Given the description of an element on the screen output the (x, y) to click on. 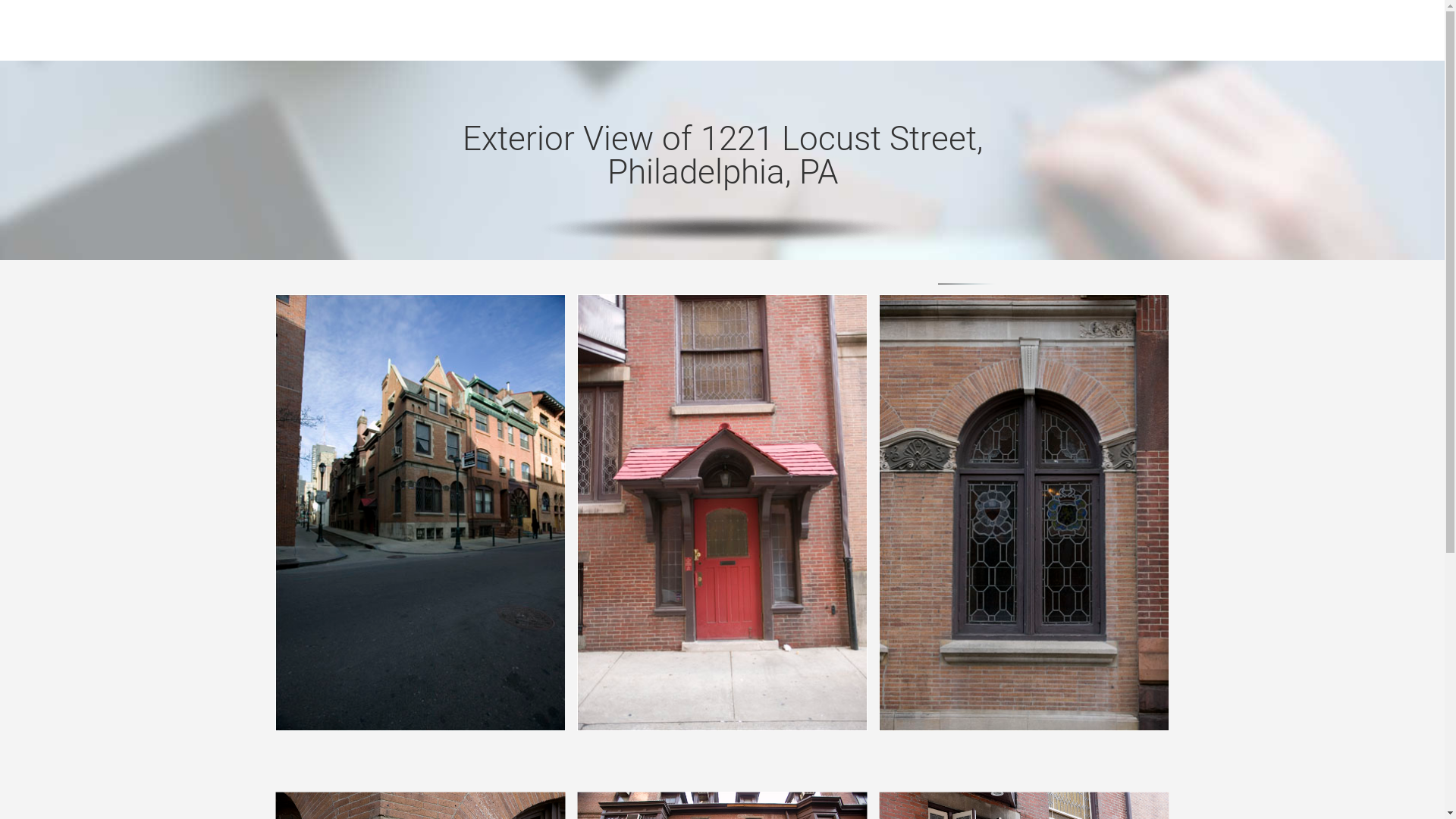
0C96T1298 Element type: hover (419, 512)
0C96T1339 Element type: hover (722, 512)
line after Element type: hover (965, 283)
0C96T1314 Element type: hover (1023, 512)
serene-video-shadow Element type: hover (722, 228)
